Given the description of an element on the screen output the (x, y) to click on. 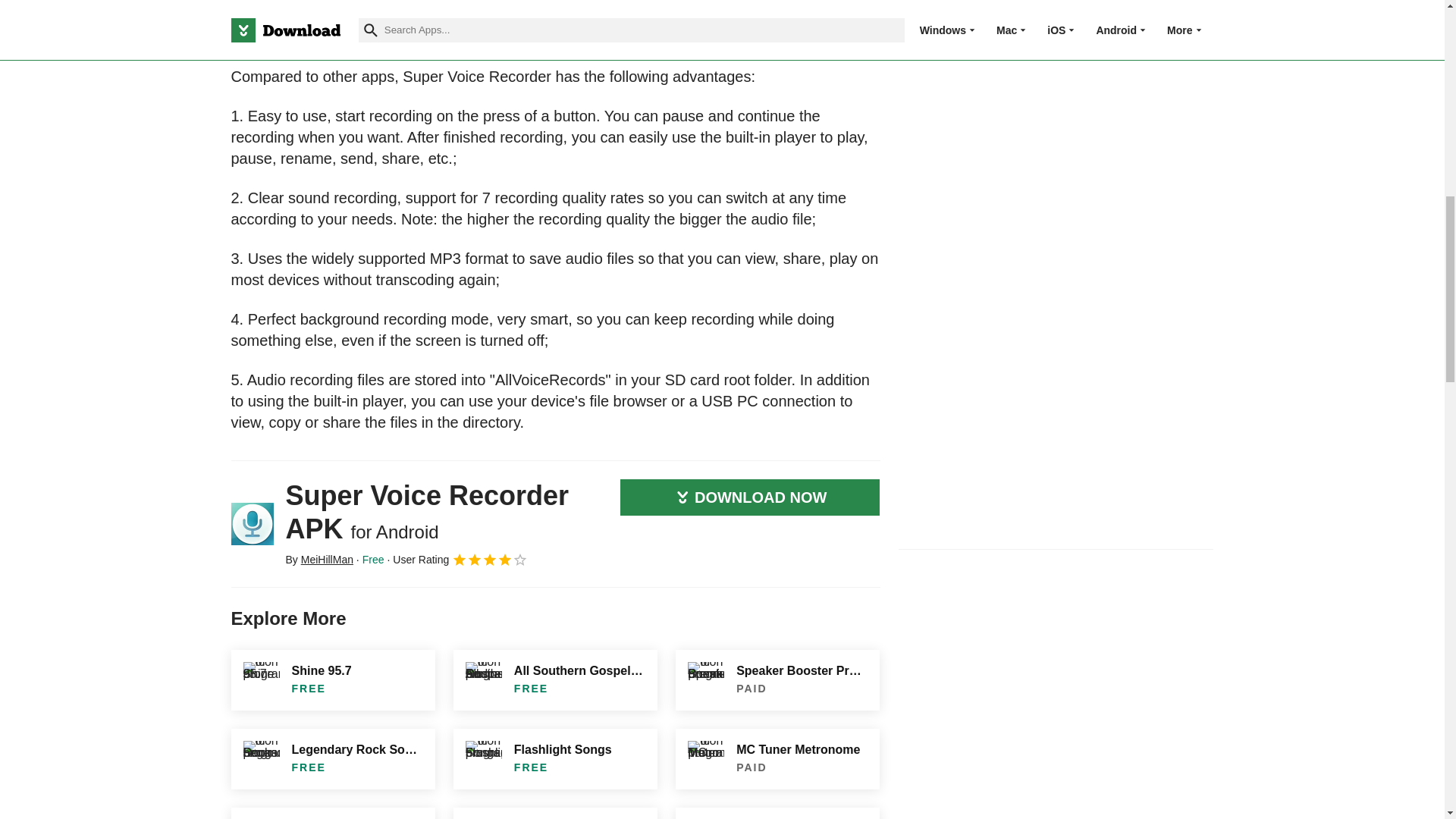
98.7 WFGR - Grand Rapids Greatest Hits Radio (555, 812)
Star Mp3 Music Player (777, 812)
Abu Bakr al - Jazairi sermons (331, 812)
Legendary Rock Songs (331, 758)
MC Tuner Metronome (777, 758)
Speaker Booster Premium. No Ads (777, 679)
Super Voice Recorder APK for Android (251, 523)
All Southern Gospel Radio (555, 679)
Flashlight Songs (555, 758)
Shine 95.7 (331, 679)
